Given the description of an element on the screen output the (x, y) to click on. 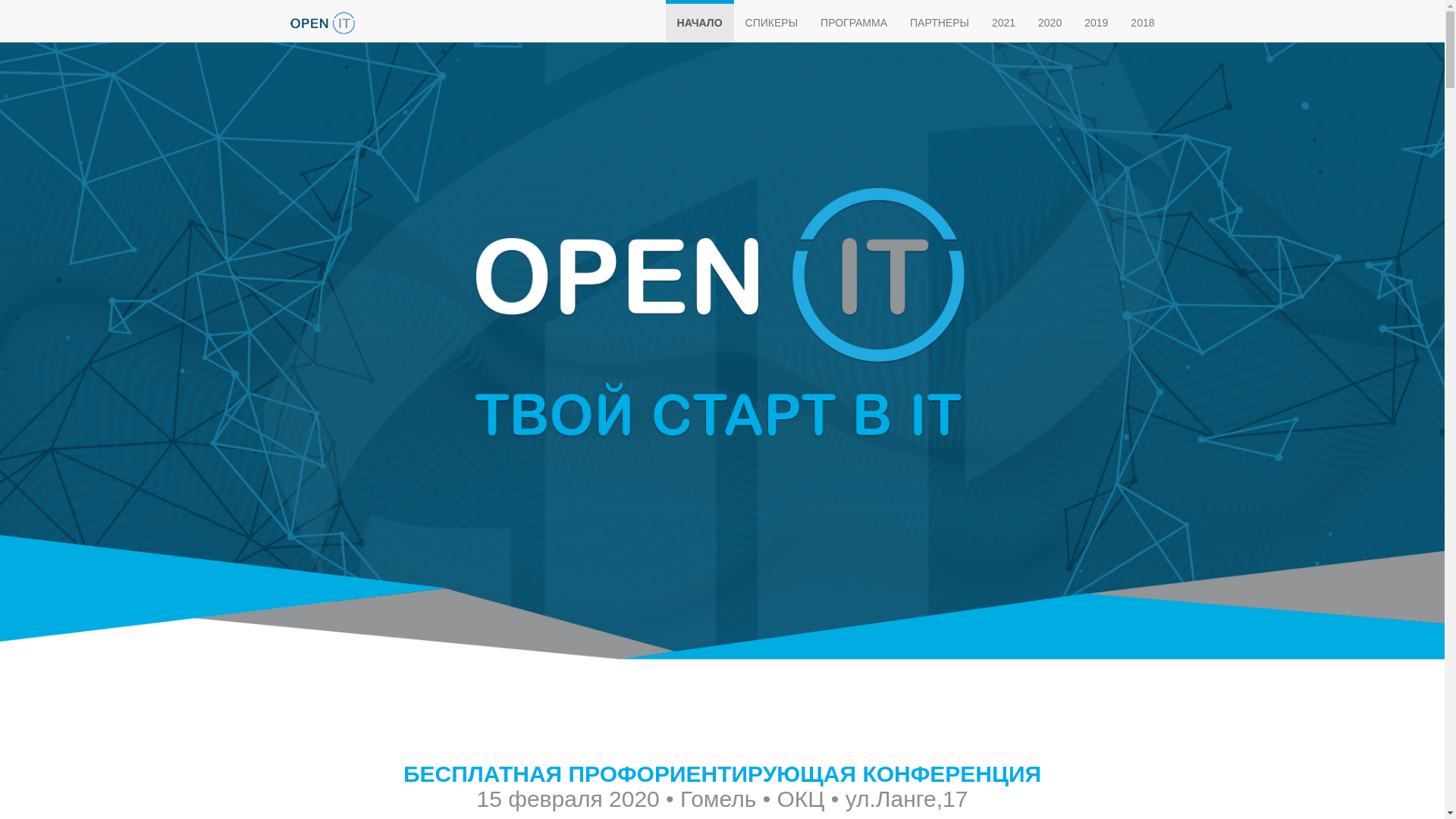
2018 Element type: text (1142, 20)
2019 Element type: text (1096, 20)
2020 Element type: text (1049, 20)
2021 Element type: text (1003, 20)
